Given the description of an element on the screen output the (x, y) to click on. 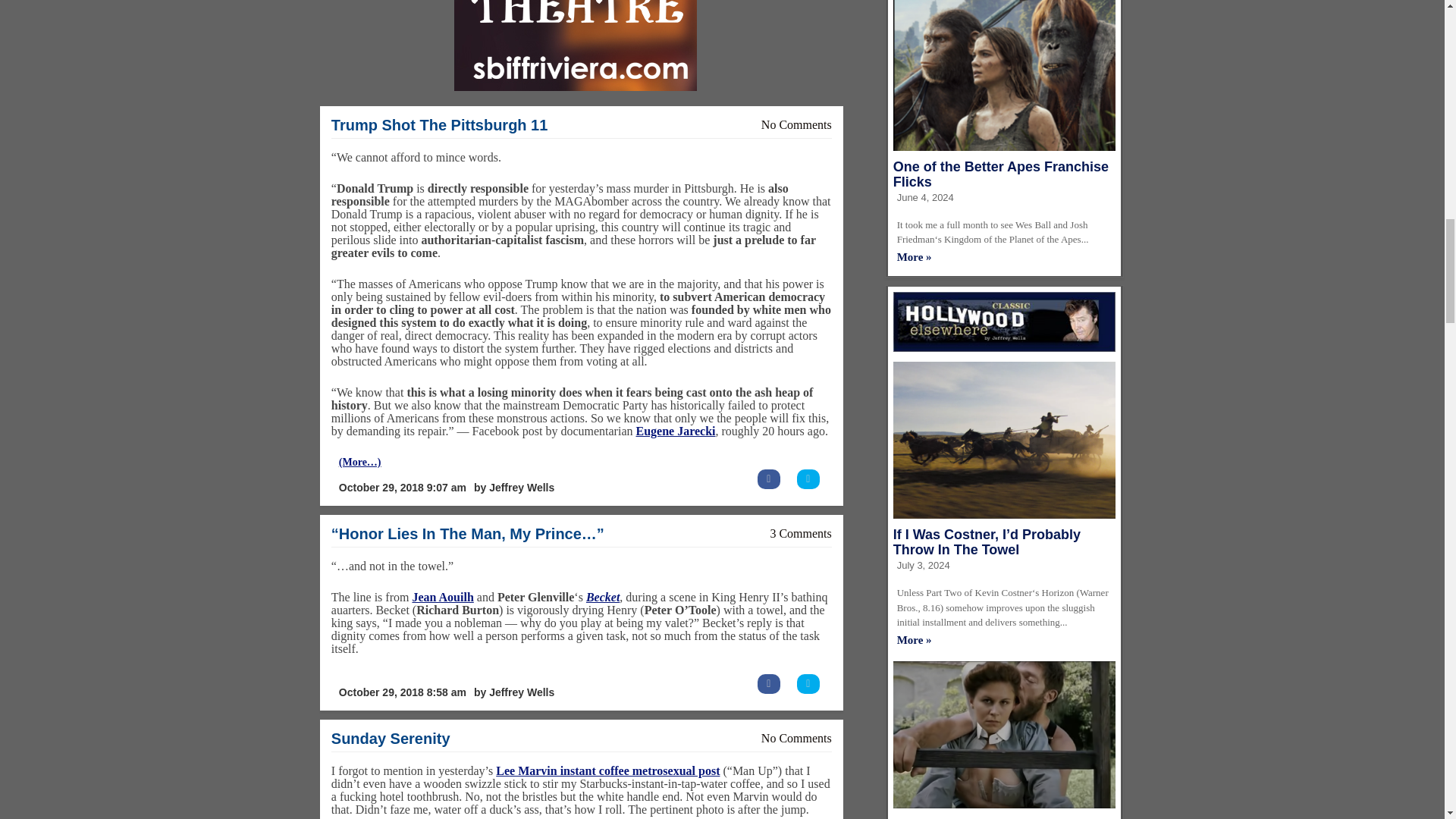
Permanent Link to Trump Shot The Pittsburgh 11 (439, 125)
Permanent Link to Sunday Serenity (390, 738)
